Given the description of an element on the screen output the (x, y) to click on. 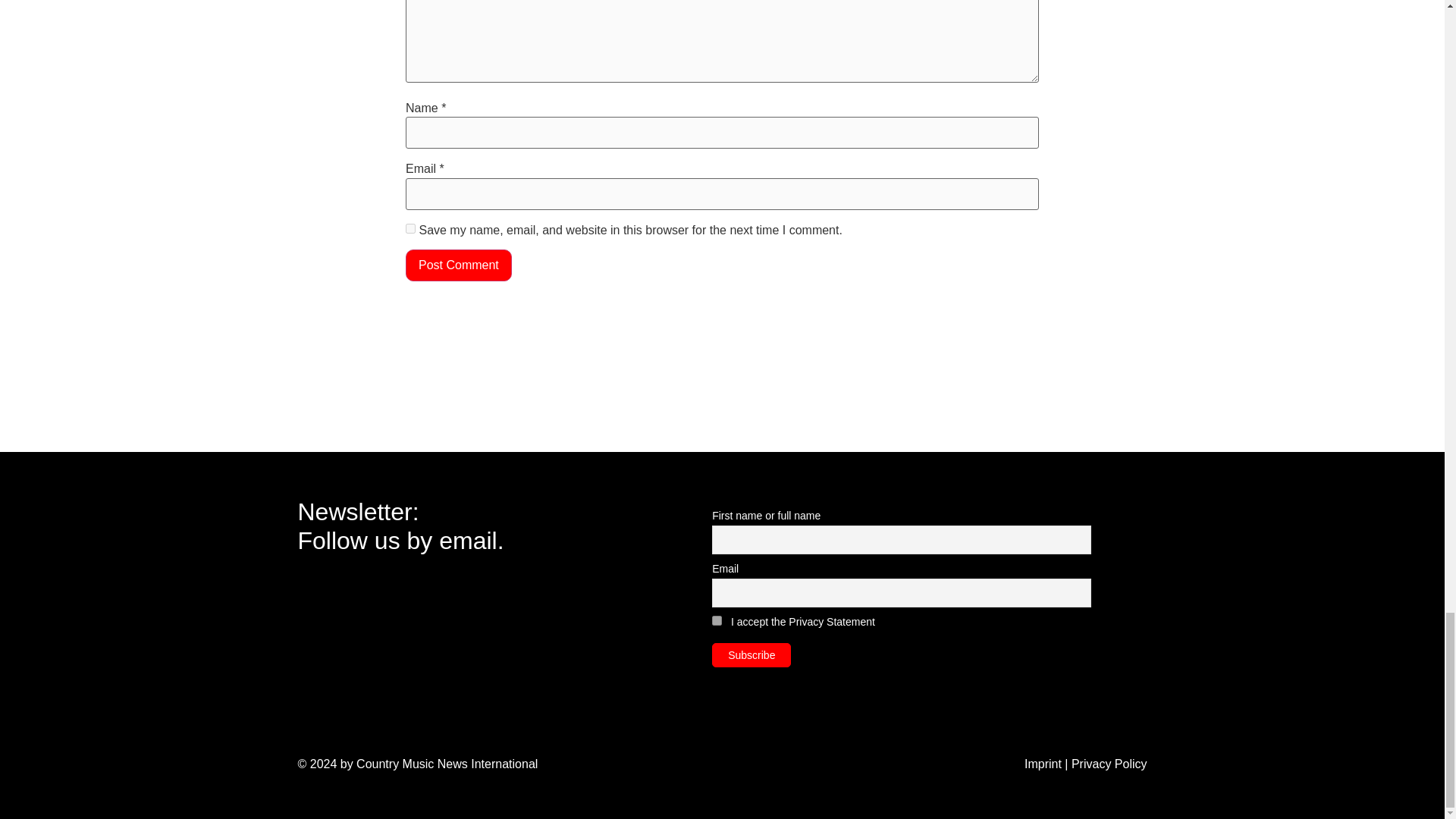
Post Comment (459, 265)
on (716, 620)
Privacy Policy (1109, 763)
I accept the Privacy Statement (802, 621)
Subscribe (750, 654)
Imprint (1043, 763)
Subscribe (750, 654)
yes (410, 228)
Post Comment (459, 265)
